Given the description of an element on the screen output the (x, y) to click on. 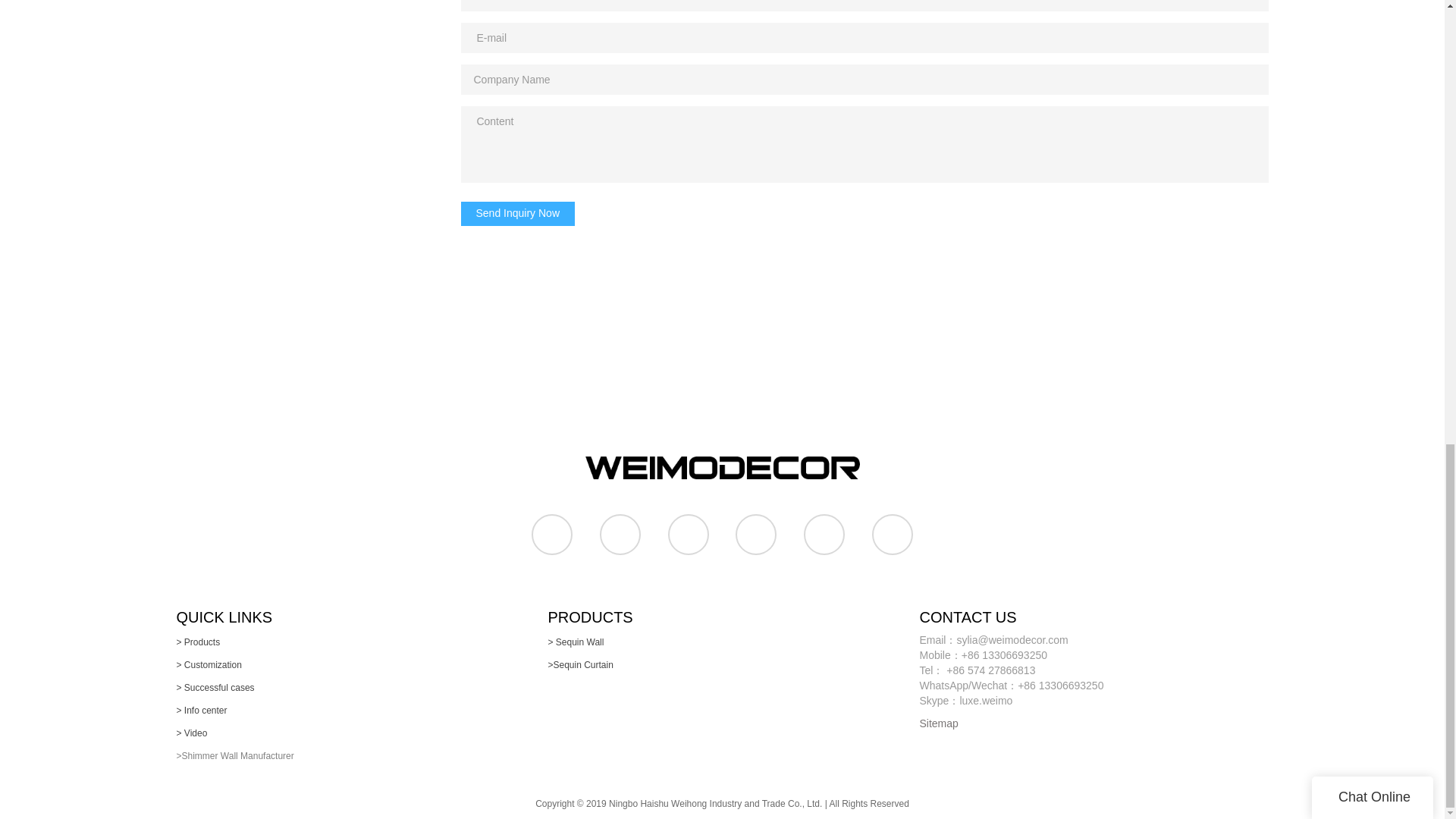
Send Inquiry Now (518, 213)
